Given the description of an element on the screen output the (x, y) to click on. 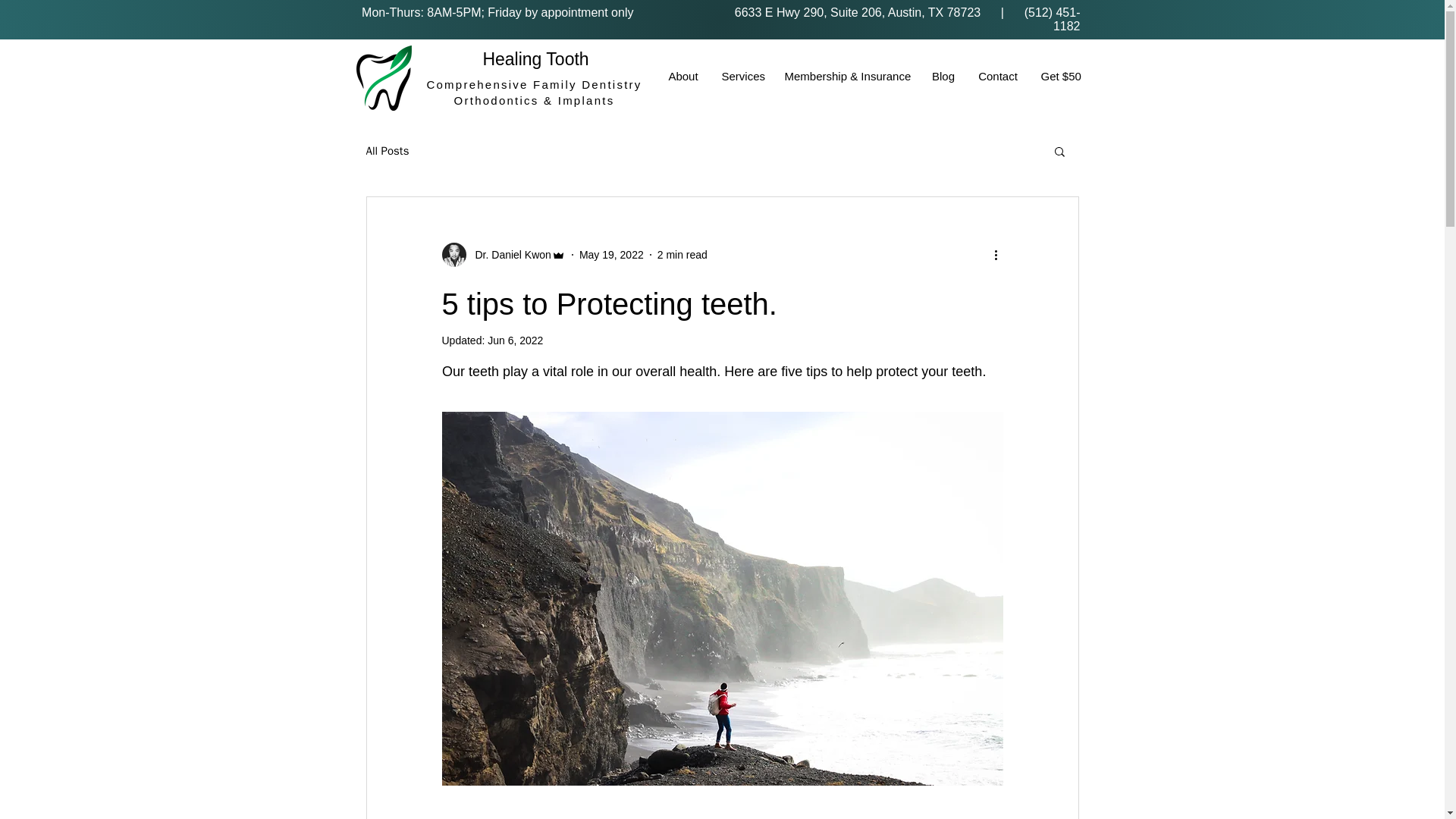
Healing Tooth (534, 58)
Blog (943, 76)
Services (741, 76)
Contact (997, 76)
About (683, 76)
Dr. Daniel Kwon (502, 254)
May 19, 2022 (611, 254)
All Posts (387, 151)
Comprehensive Family Dentistry (534, 83)
Dr. Daniel Kwon (507, 254)
Jun 6, 2022 (515, 340)
2 min read (682, 254)
